Given the description of an element on the screen output the (x, y) to click on. 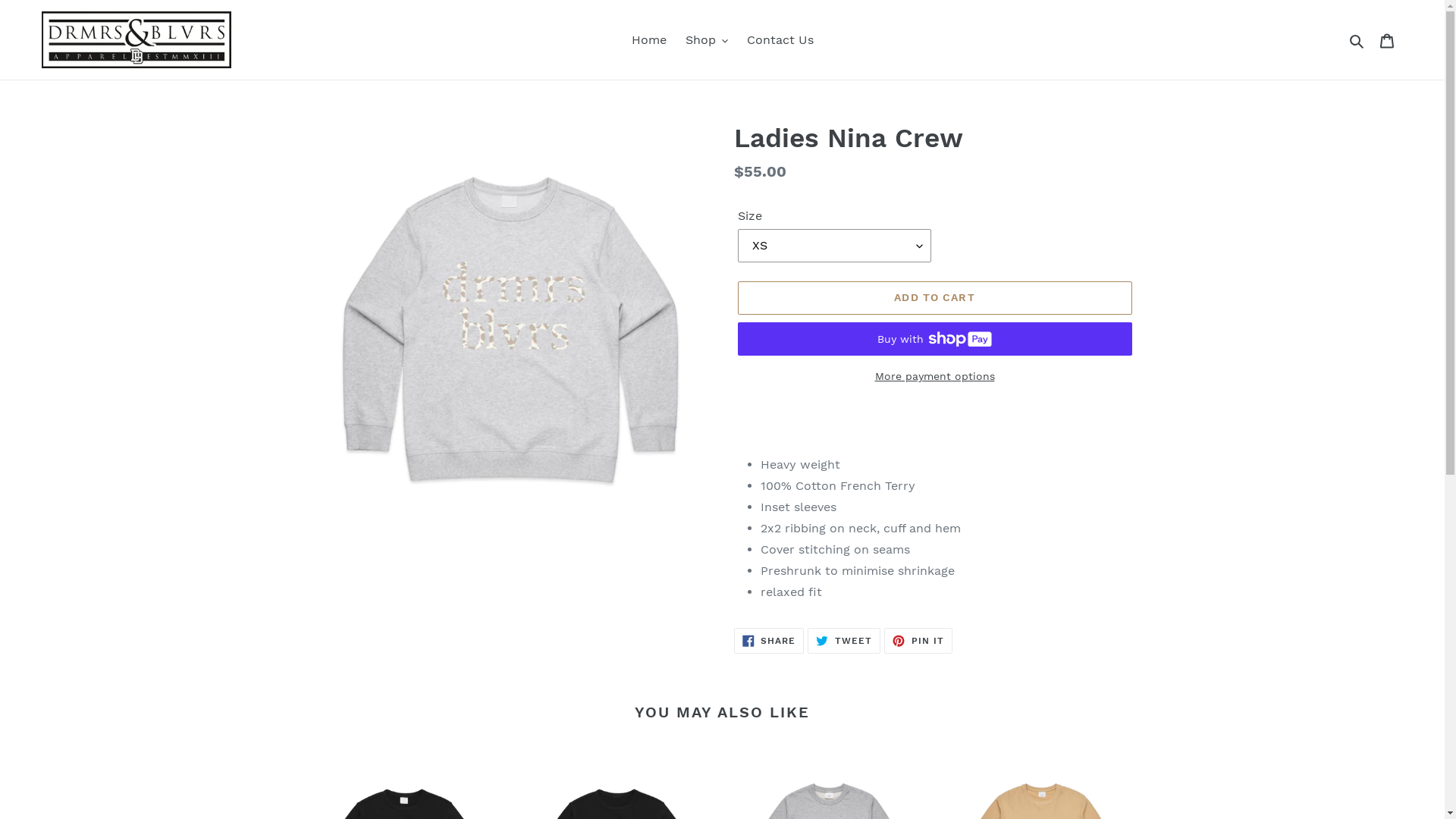
ADD TO CART Element type: text (934, 297)
SHARE
SHARE ON FACEBOOK Element type: text (769, 640)
Search Element type: text (1357, 40)
Home Element type: text (648, 39)
Contact Us Element type: text (779, 39)
More payment options Element type: text (934, 376)
PIN IT
PIN ON PINTEREST Element type: text (918, 640)
Cart Element type: text (1386, 39)
TWEET
TWEET ON TWITTER Element type: text (843, 640)
Shop Element type: text (706, 39)
